Given the description of an element on the screen output the (x, y) to click on. 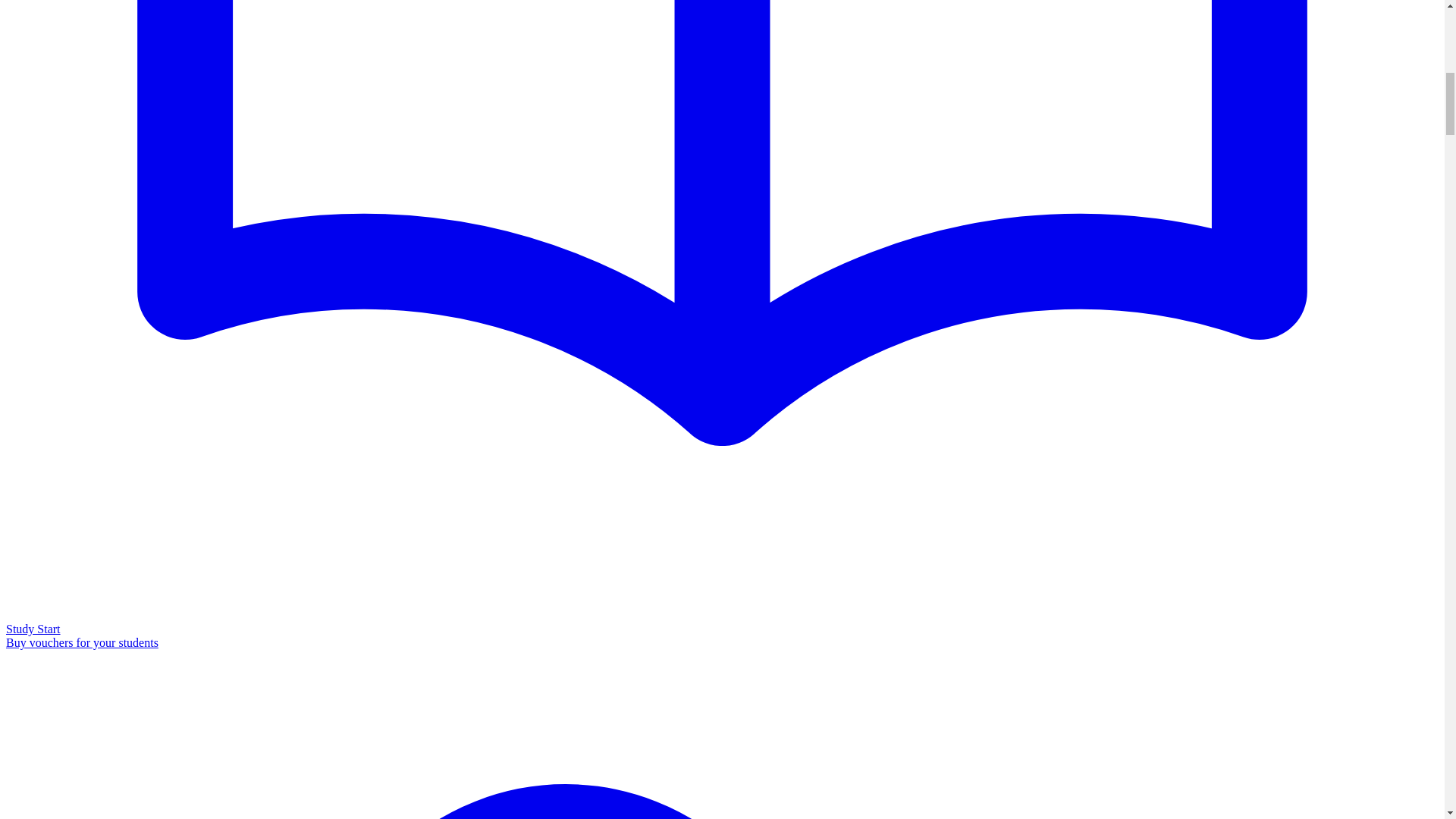
Buy vouchers for your students (81, 642)
